Given the description of an element on the screen output the (x, y) to click on. 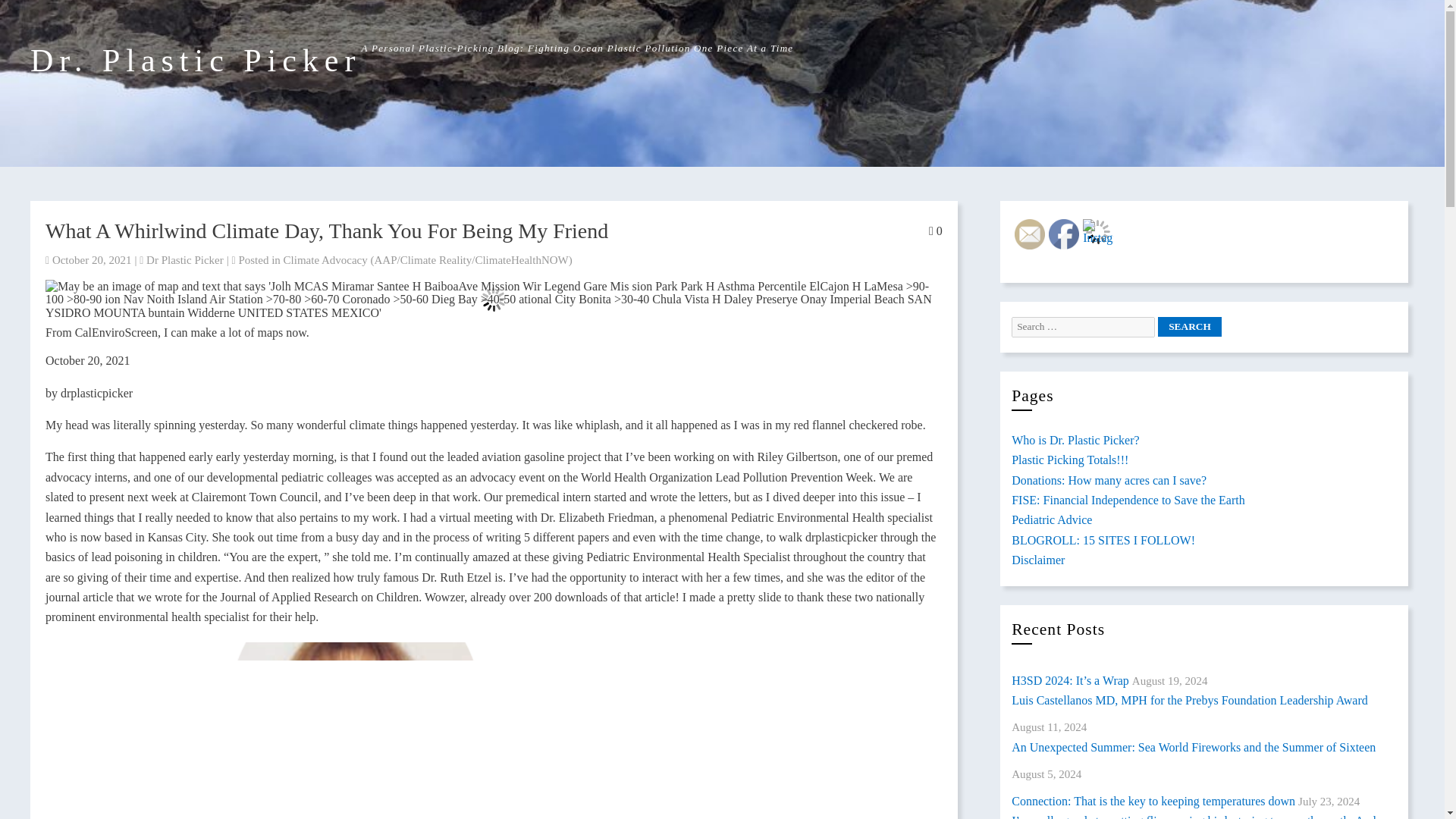
Search (1189, 326)
Donations: How many acres can I save? (1109, 480)
Instagram (1098, 231)
Plastic Picking Totals!!! (1069, 459)
Dr. Plastic Picker (195, 60)
Dr Plastic Picker (185, 259)
FISE: Financial Independence to Save the Earth (1127, 499)
Pediatric Advice (1051, 519)
